Given the description of an element on the screen output the (x, y) to click on. 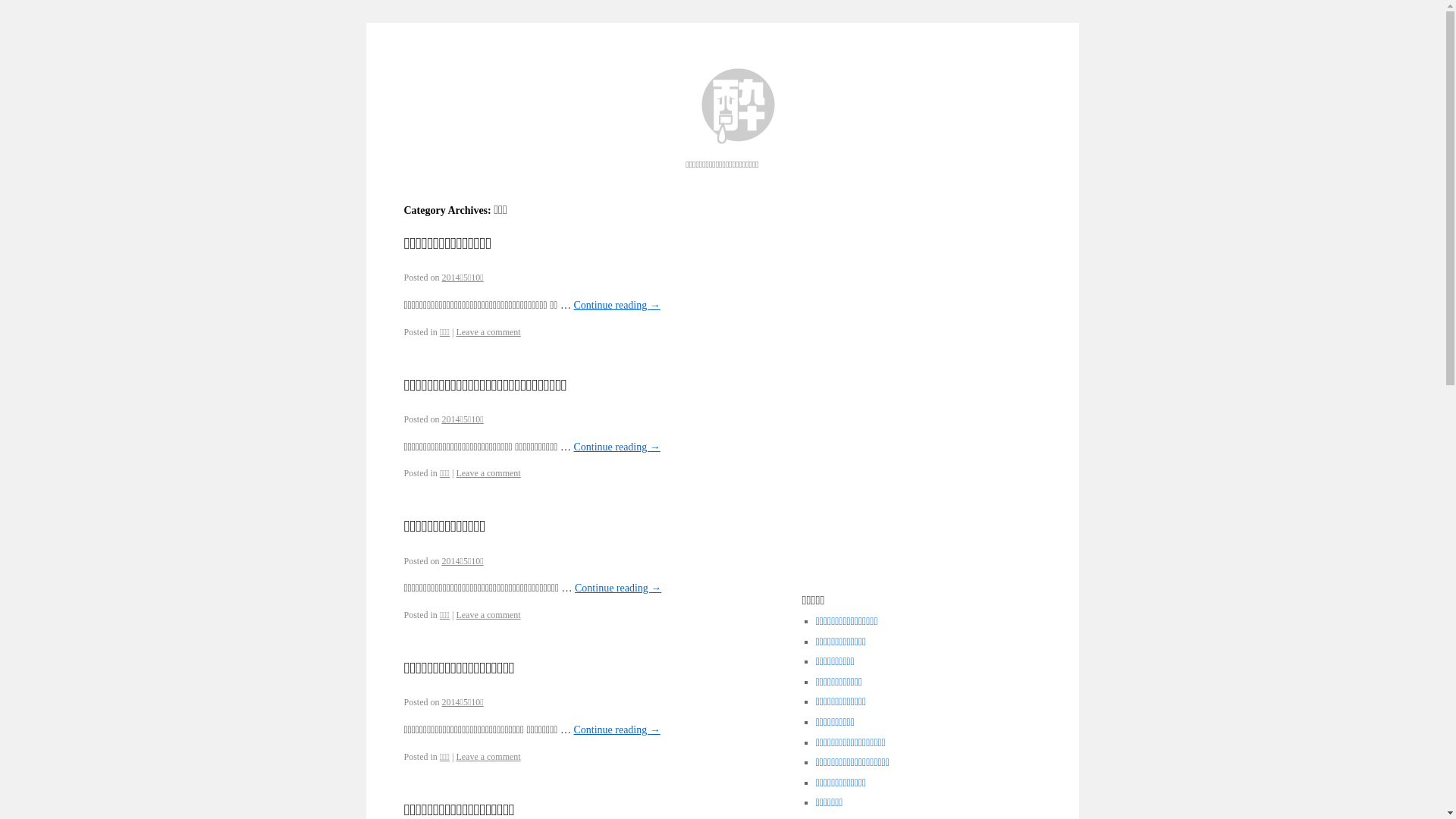
Advertisement Element type: hover (915, 489)
Leave a comment Element type: text (487, 614)
Advertisement Element type: hover (915, 296)
Leave a comment Element type: text (487, 331)
Leave a comment Element type: text (487, 472)
Leave a comment Element type: text (487, 756)
